Given the description of an element on the screen output the (x, y) to click on. 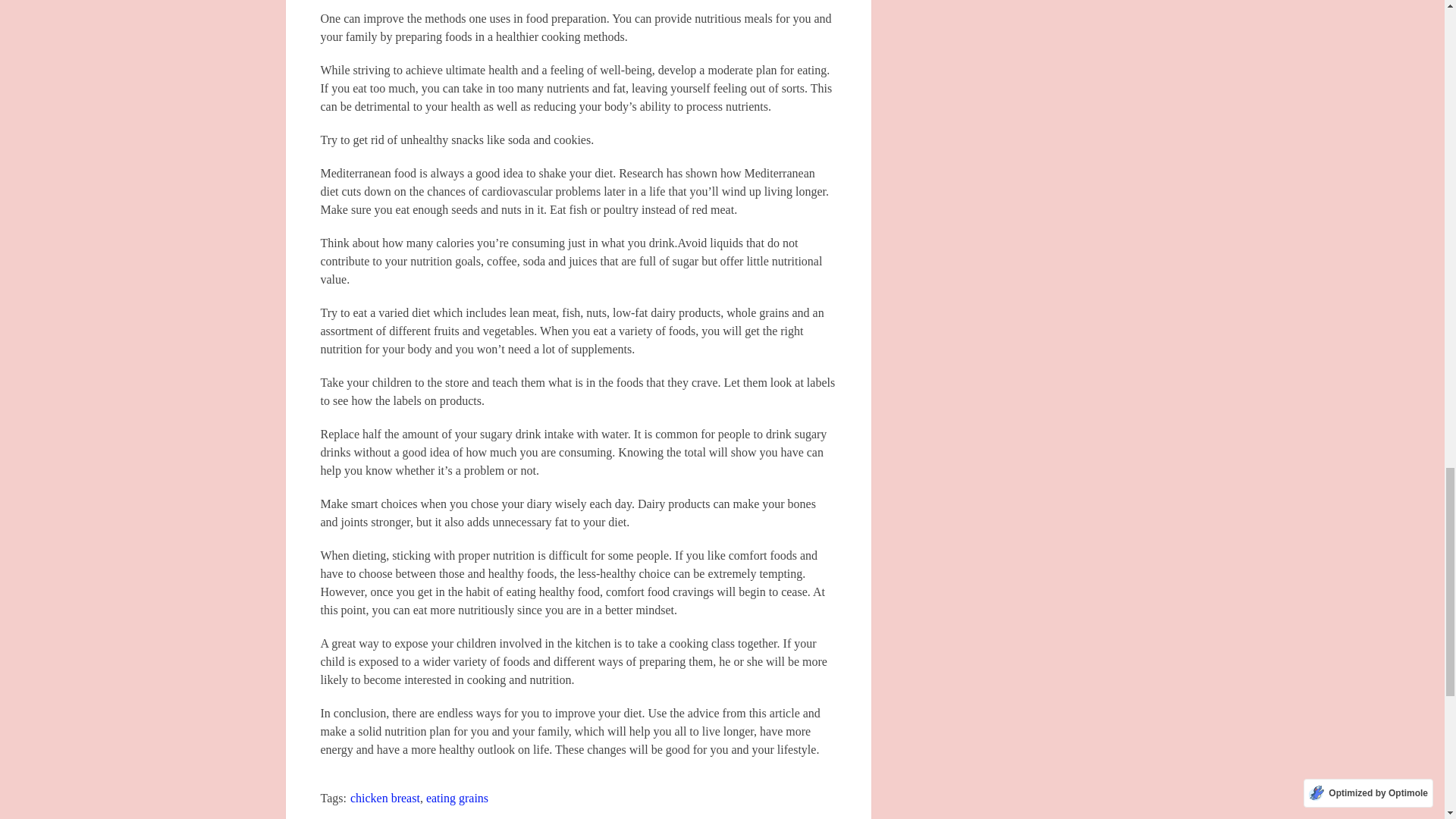
eating grains (456, 797)
chicken breast (385, 797)
